Given the description of an element on the screen output the (x, y) to click on. 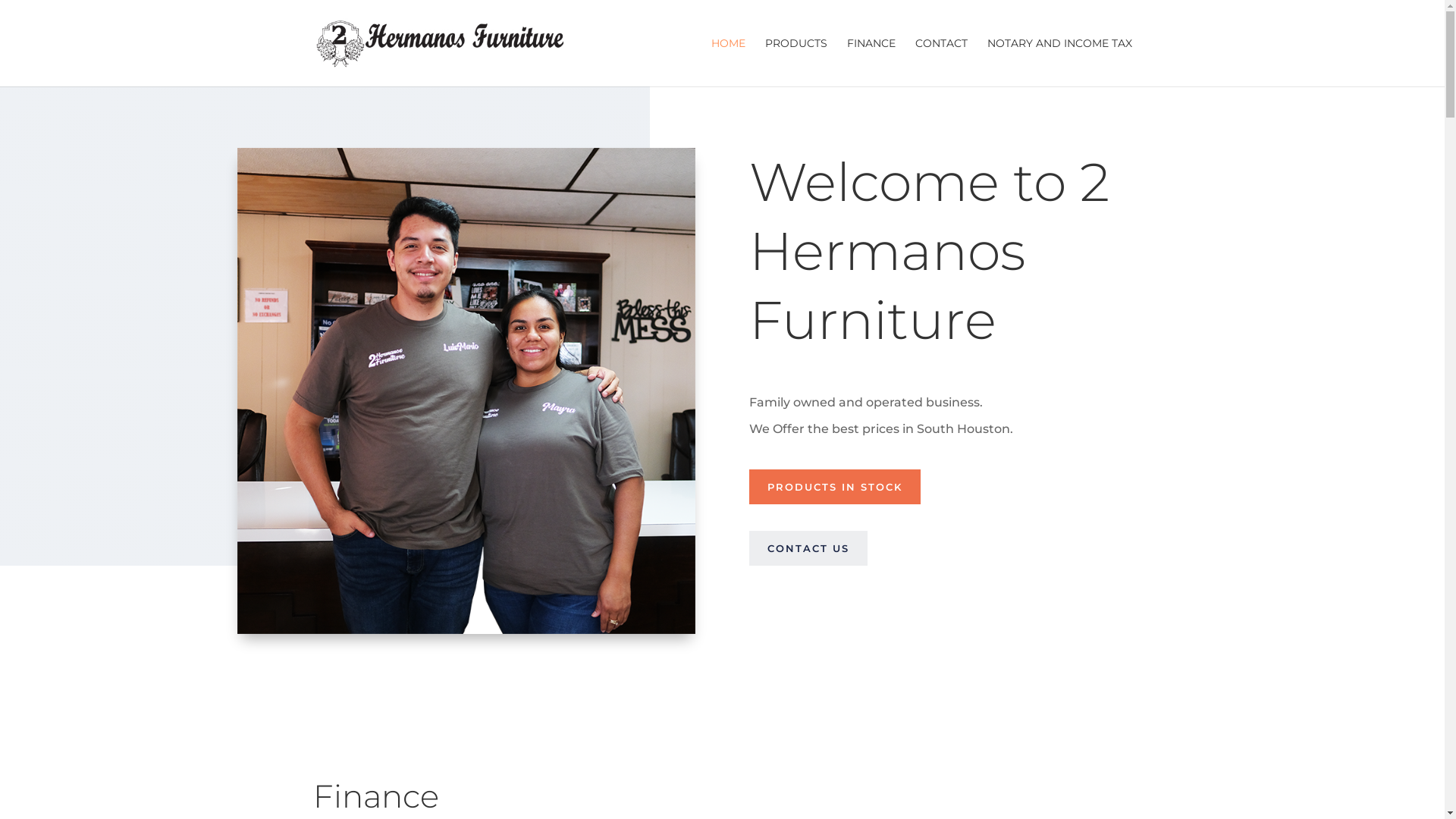
top Element type: hover (465, 390)
FINANCE Element type: text (870, 61)
PRODUCTS Element type: text (795, 61)
NOTARY AND INCOME TAX Element type: text (1059, 61)
PRODUCTS IN STOCK Element type: text (834, 486)
HOME Element type: text (728, 61)
CONTACT US Element type: text (808, 547)
CONTACT Element type: text (940, 61)
